Given the description of an element on the screen output the (x, y) to click on. 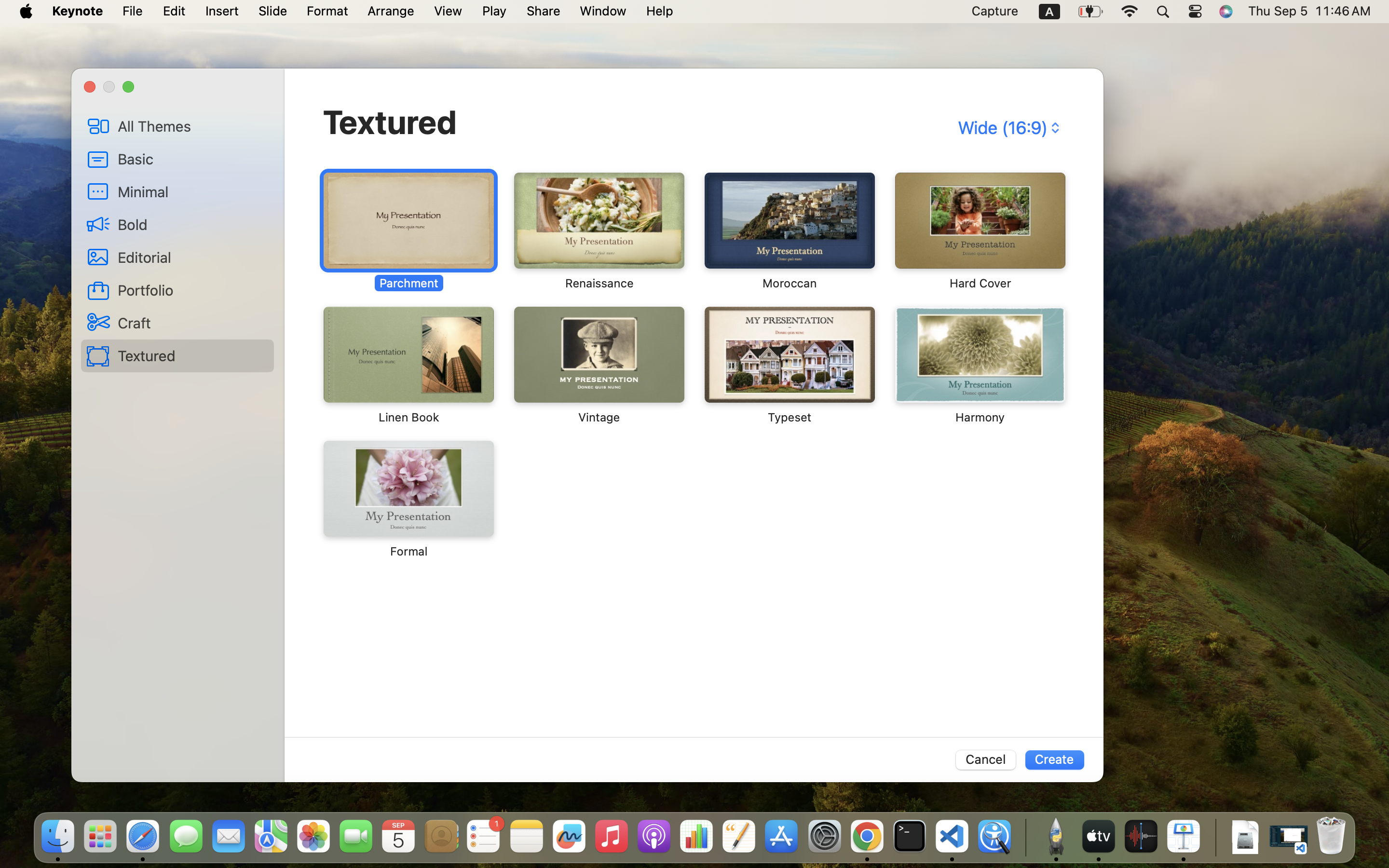
Minimal Element type: AXStaticText (191, 191)
‎⁨Formal⁩ Element type: AXButton (408, 499)
Wide (16:9) Element type: AXPopUpButton (1007, 127)
Textured Element type: AXStaticText (390, 121)
‎⁨Typeset⁩ Element type: AXButton (789, 365)
